Given the description of an element on the screen output the (x, y) to click on. 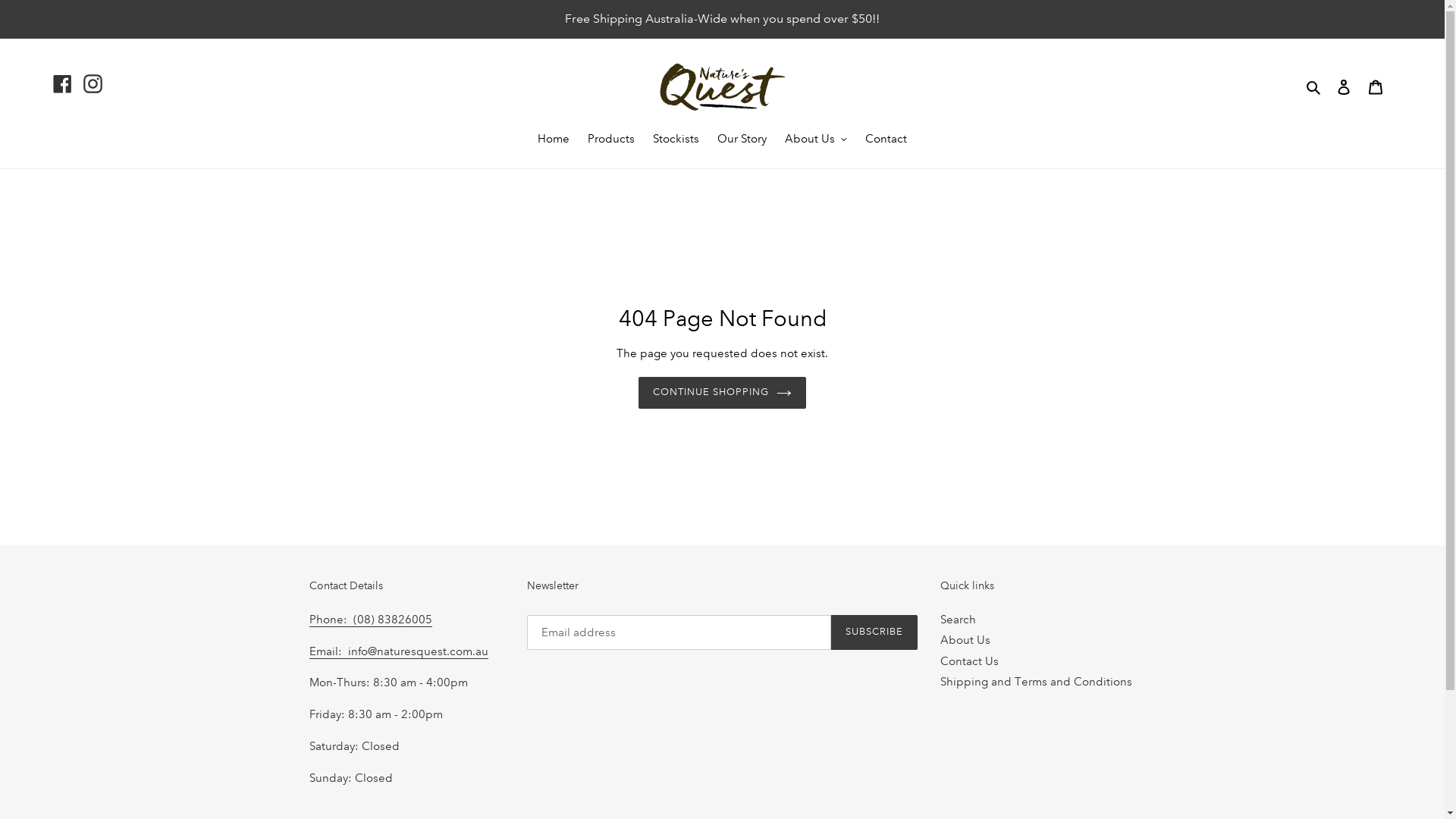
Search Element type: text (957, 619)
About Us Element type: text (815, 140)
Cart Element type: text (1375, 86)
Email:  info@naturesquest.com.au Element type: text (398, 651)
Products Element type: text (611, 140)
Facebook Element type: text (62, 83)
CONTINUE SHOPPING Element type: text (722, 392)
Stockists Element type: text (675, 140)
Search Element type: text (1314, 86)
Shipping and Terms and Conditions Element type: text (1036, 681)
SUBSCRIBE Element type: text (874, 632)
Contact Us Element type: text (969, 661)
Our Story Element type: text (741, 140)
Instagram Element type: text (92, 83)
Contact Element type: text (885, 140)
Home Element type: text (553, 140)
Phone:  (08) 83826005 Element type: text (370, 619)
About Us Element type: text (965, 639)
Log in Element type: text (1343, 86)
